Given the description of an element on the screen output the (x, y) to click on. 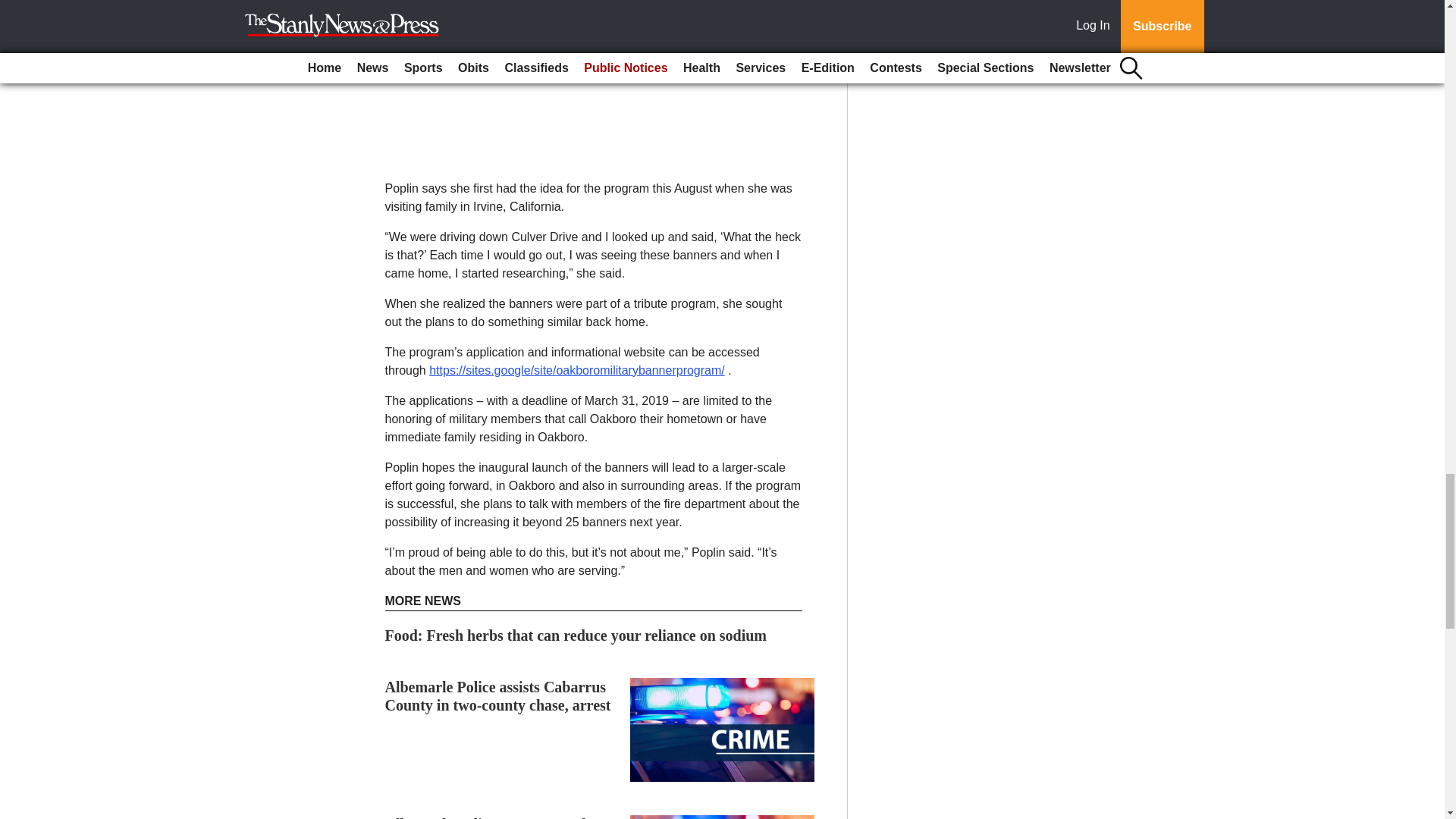
Food: Fresh herbs that can reduce your reliance on sodium (576, 635)
Food: Fresh herbs that can reduce your reliance on sodium (576, 635)
